Given the description of an element on the screen output the (x, y) to click on. 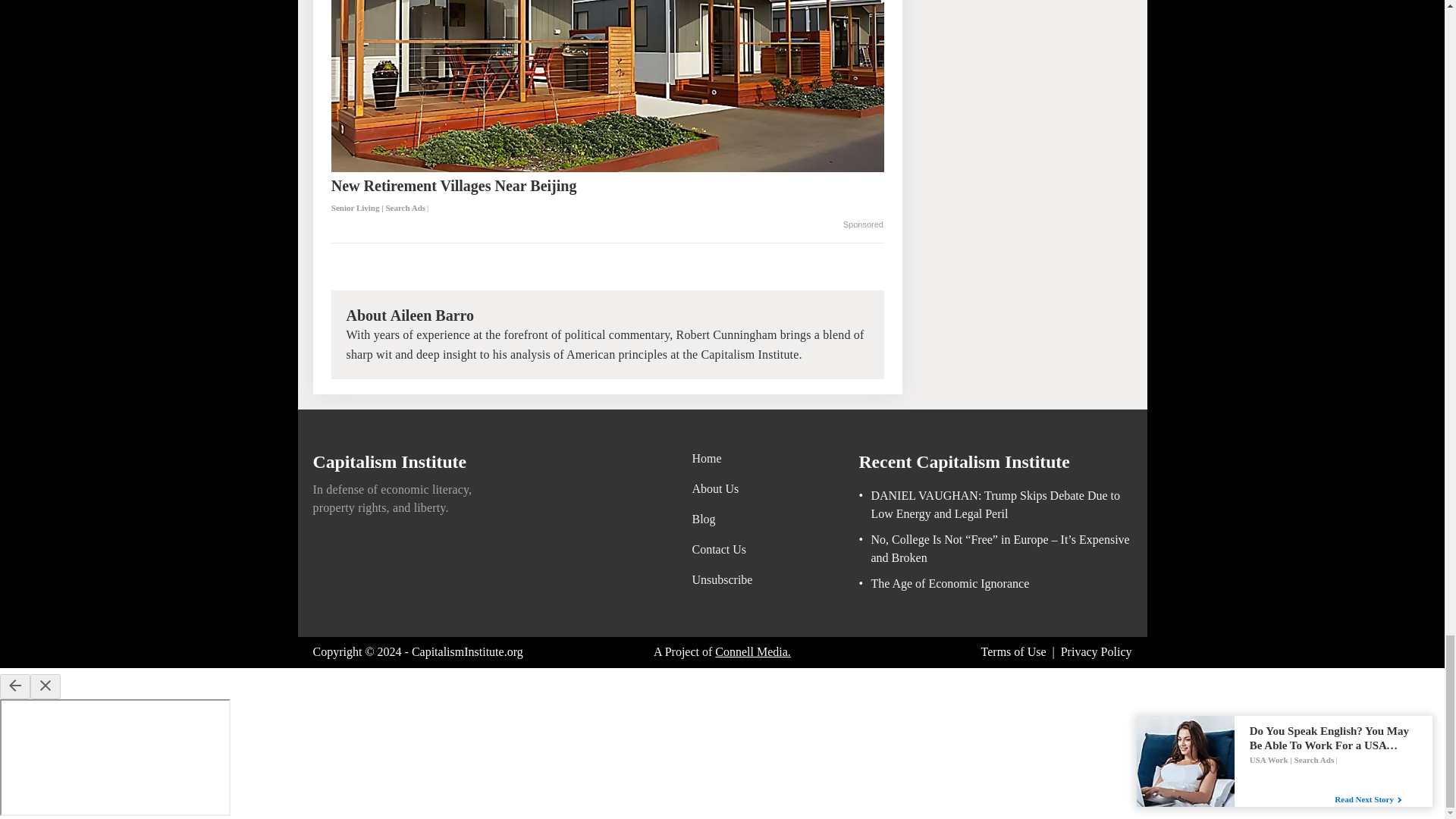
Sponsored (863, 225)
